Given the description of an element on the screen output the (x, y) to click on. 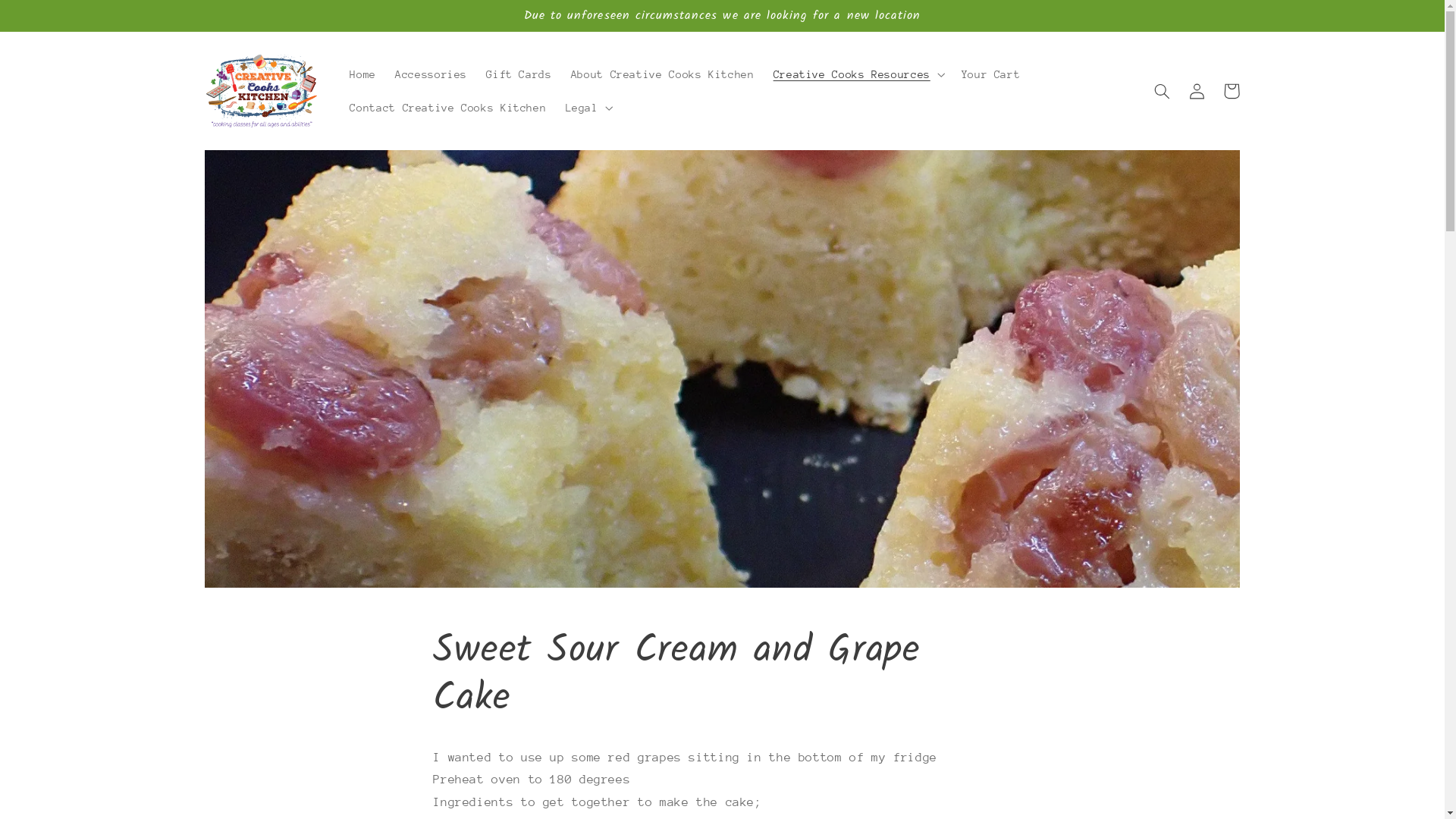
Your Cart Element type: text (990, 74)
Cart Element type: text (1231, 90)
Gift Cards Element type: text (518, 74)
Log in Element type: text (1196, 90)
Accessories Element type: text (430, 74)
Home Element type: text (362, 74)
Contact Creative Cooks Kitchen Element type: text (447, 107)
About Creative Cooks Kitchen Element type: text (662, 74)
